Given the description of an element on the screen output the (x, y) to click on. 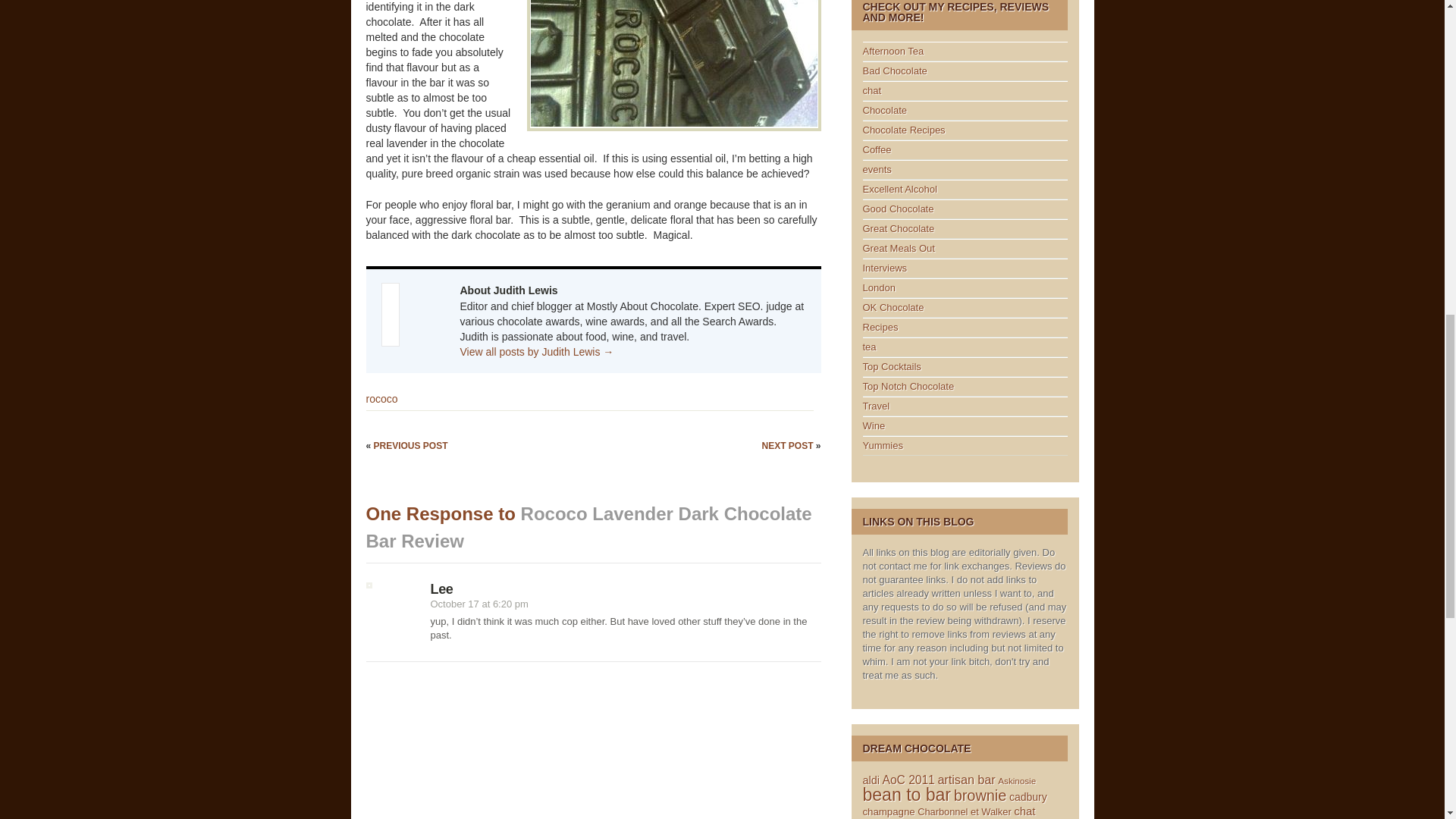
Chocolate Recipes (903, 129)
Excellent Alcohol (900, 188)
October 17 at 6:20 pm (479, 603)
Coffee (877, 149)
rococo lavender chocolate bar (673, 65)
Good Chocolate (898, 208)
PREVIOUS POST (411, 445)
rococo (381, 398)
Great Chocolate (898, 228)
Chocolate (885, 110)
events (877, 169)
chat (872, 90)
Great Meals Out (898, 247)
NEXT POST (788, 445)
Bad Chocolate (895, 70)
